Given the description of an element on the screen output the (x, y) to click on. 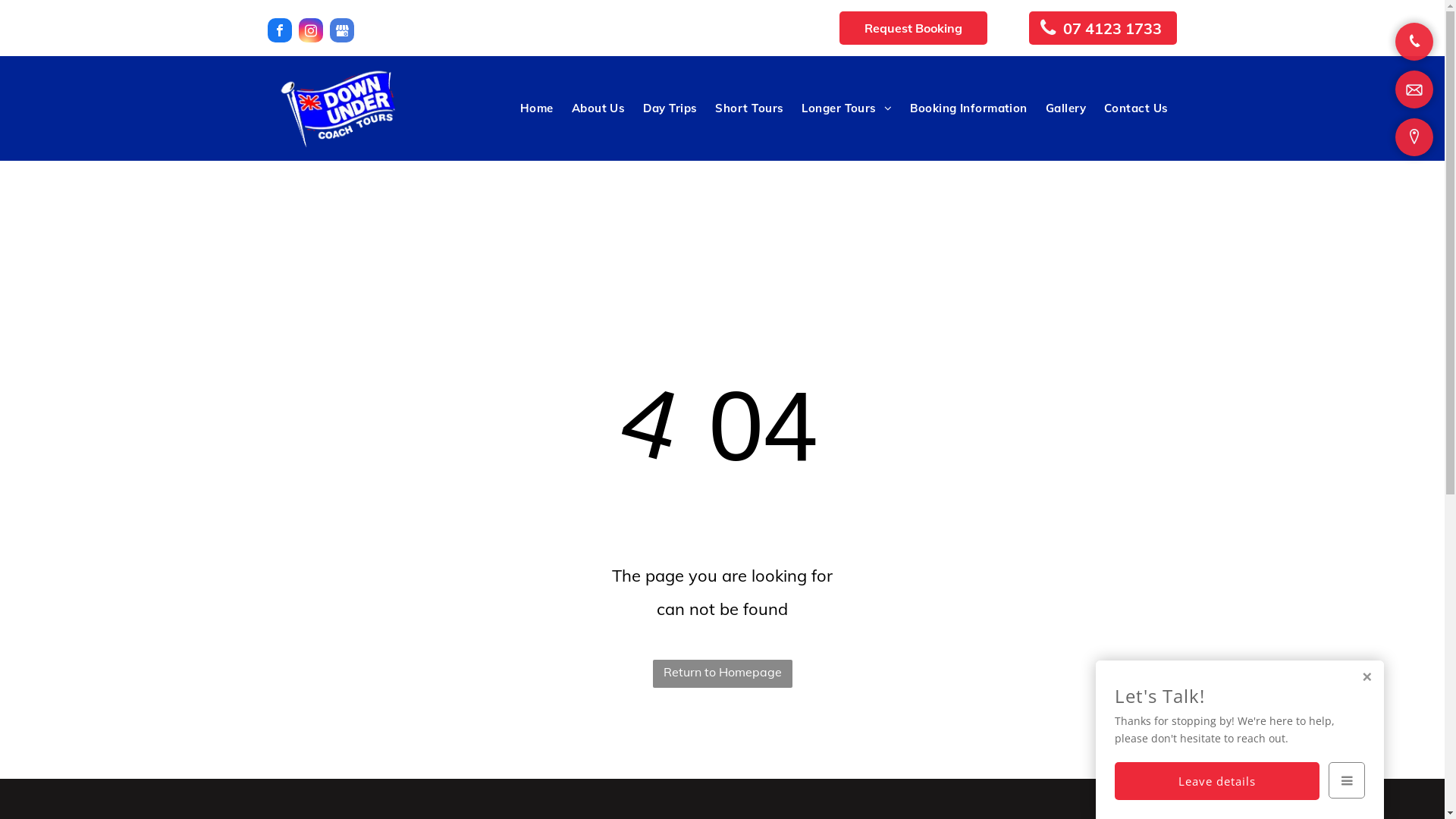
Down Under Coach Tours Element type: hover (336, 108)
Day Trips Element type: text (669, 108)
07 4123 1733 Element type: text (1102, 27)
About Us Element type: text (598, 108)
Booking Information Element type: text (968, 108)
Short Tours Element type: text (749, 108)
Home Element type: text (536, 108)
Longer Tours Element type: text (846, 108)
Gallery Element type: text (1065, 108)
Return to Homepage Element type: text (721, 673)
Leave details Element type: text (1216, 781)
Request Booking Element type: text (913, 27)
Contact Us Element type: text (1136, 108)
